Given the description of an element on the screen output the (x, y) to click on. 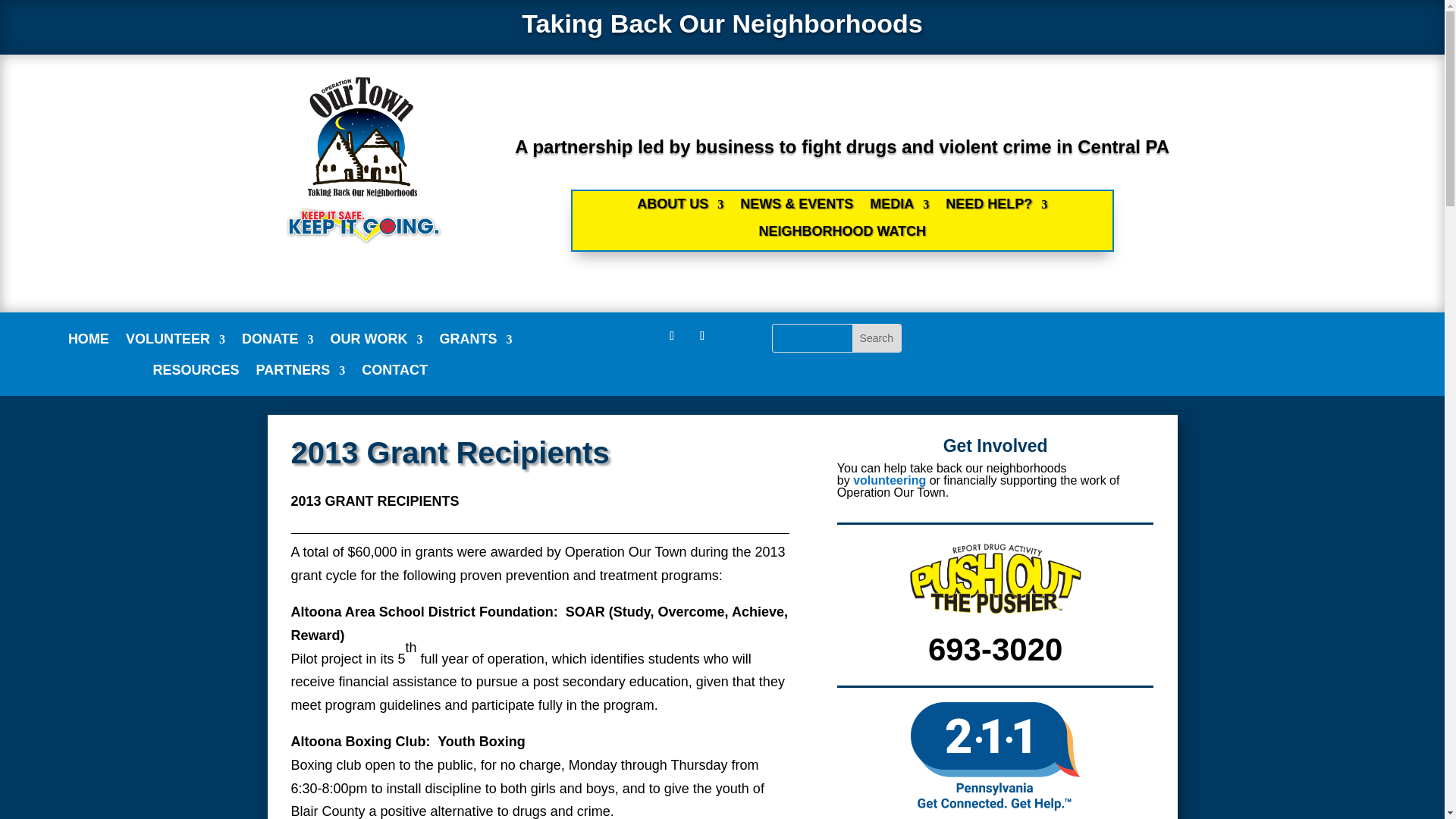
DONATE (277, 342)
PushLogoTM 4-28-10 (995, 576)
VOLUNTEER (175, 342)
NEIGHBORHOOD WATCH (842, 234)
HOME (88, 342)
Search (876, 338)
Follow on Youtube (702, 335)
ABOUT US (680, 207)
Search (876, 338)
Follow on Facebook (671, 335)
MEDIA (898, 207)
NEED HELP? (995, 207)
